Given the description of an element on the screen output the (x, y) to click on. 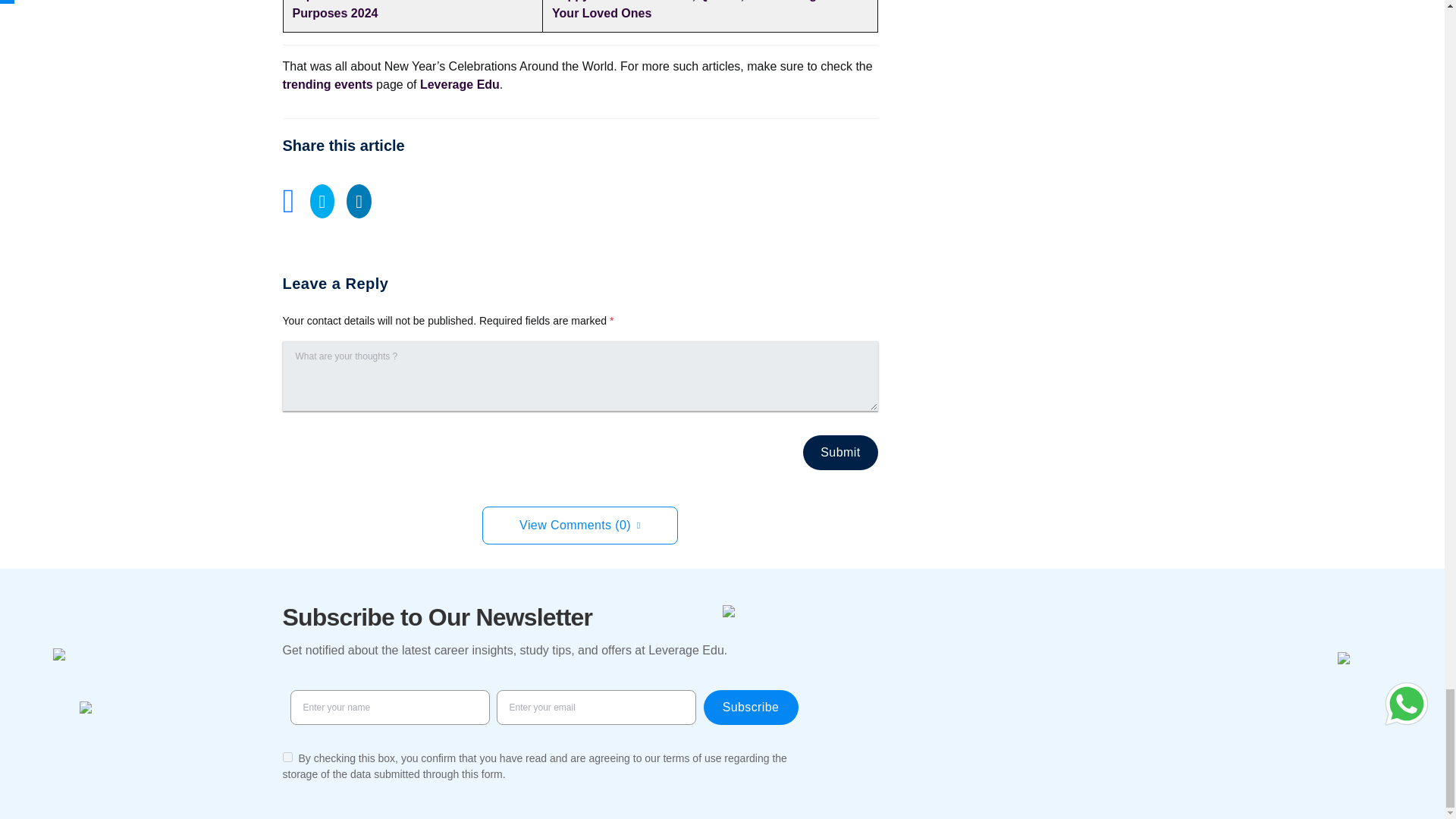
on (287, 757)
